Given the description of an element on the screen output the (x, y) to click on. 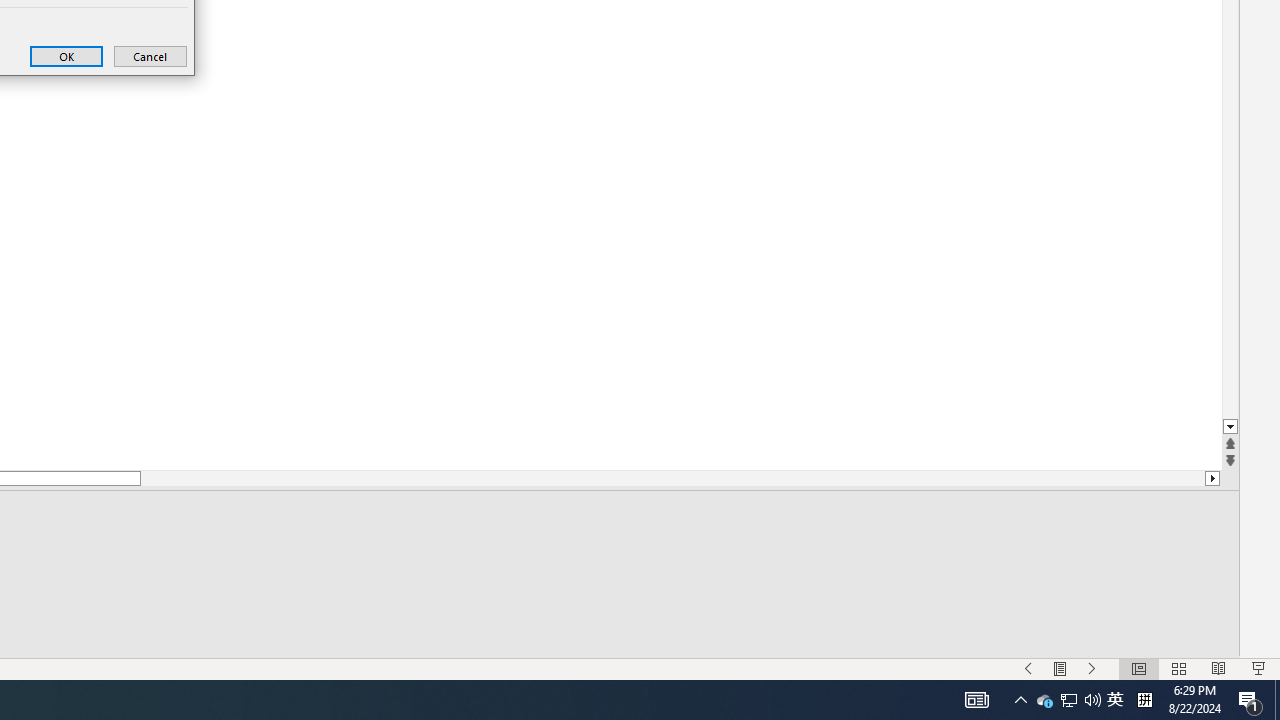
OK (66, 55)
